Given the description of an element on the screen output the (x, y) to click on. 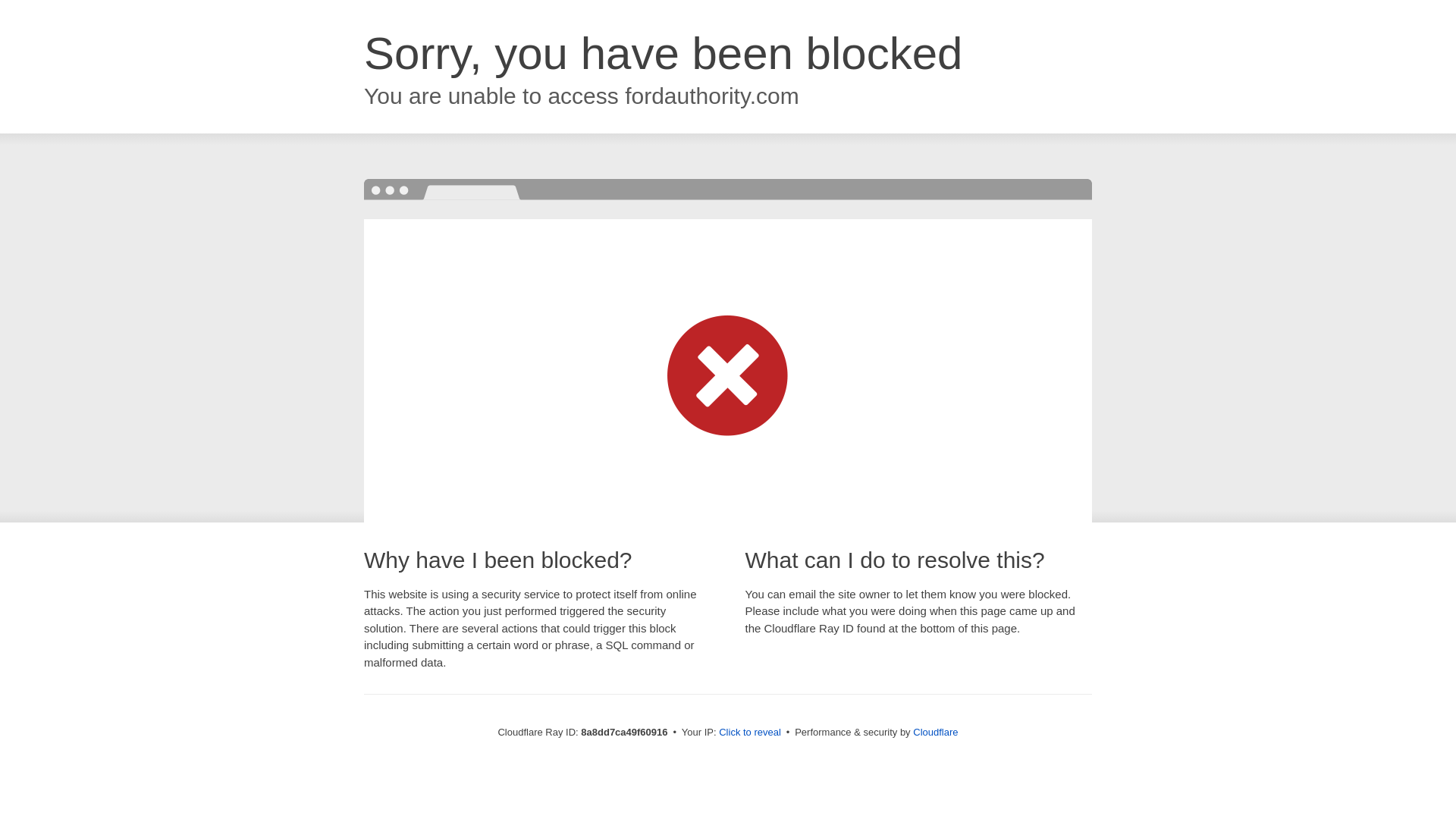
Click to reveal (749, 732)
Cloudflare (935, 731)
